Given the description of an element on the screen output the (x, y) to click on. 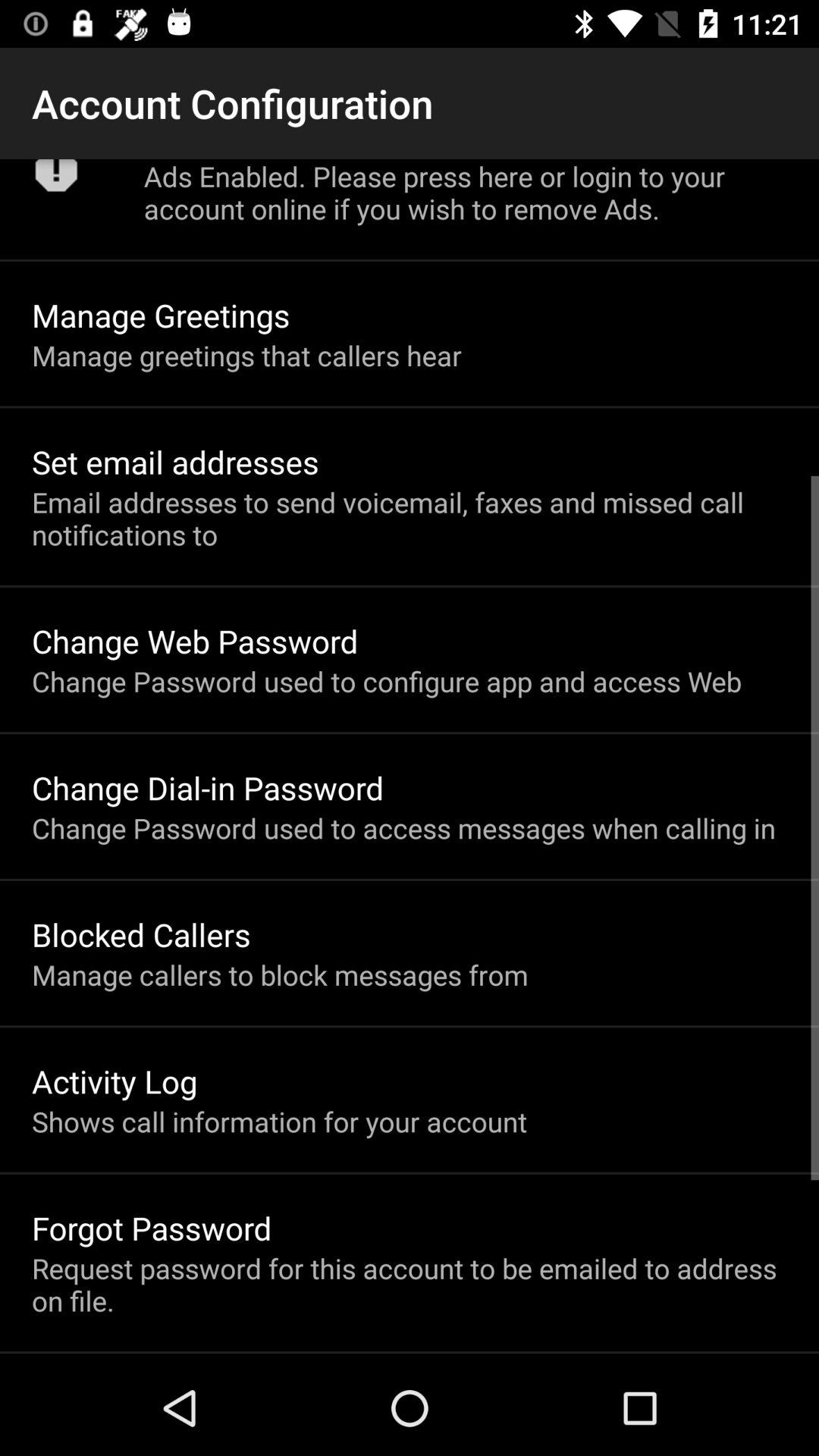
turn on the icon to the left of ads enabled please icon (56, 180)
